Given the description of an element on the screen output the (x, y) to click on. 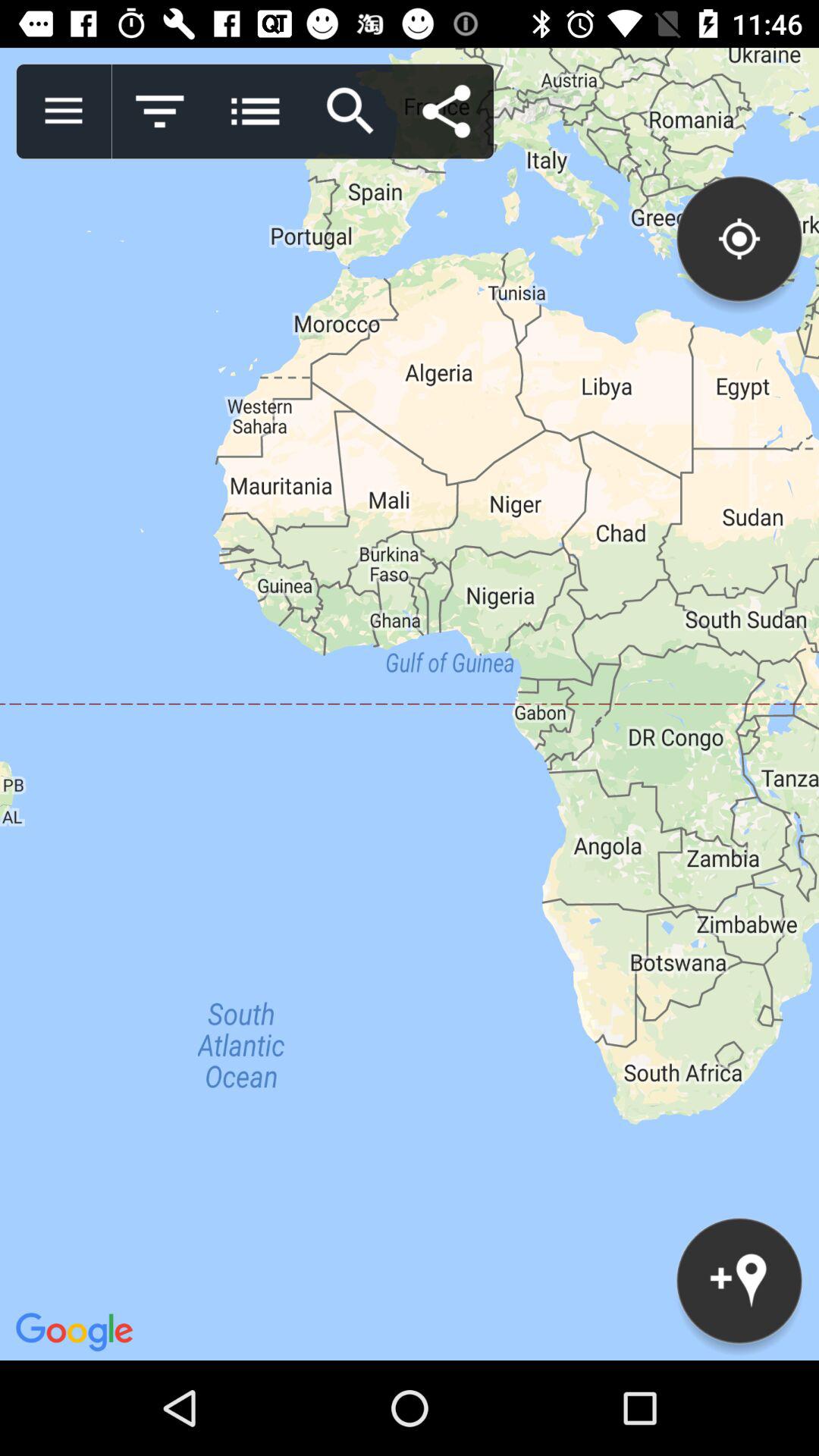
more options (255, 111)
